Given the description of an element on the screen output the (x, y) to click on. 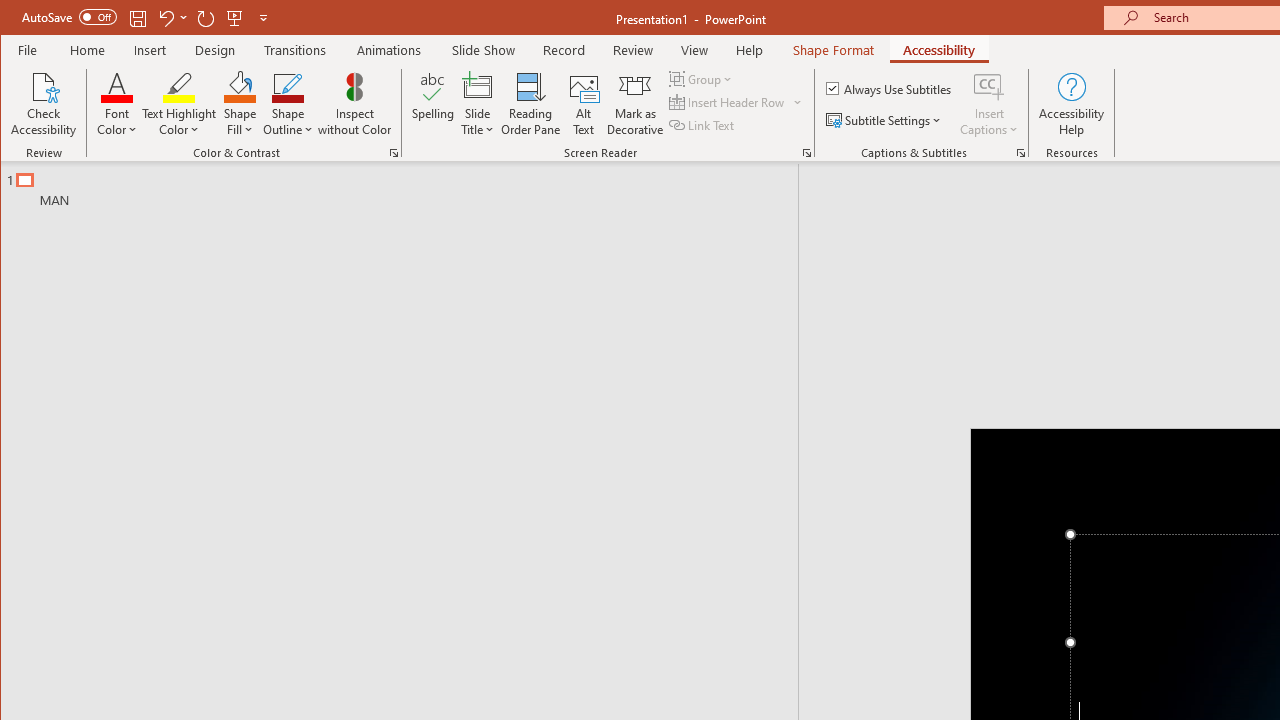
Shape Outline Blue, Accent 1 (288, 86)
Check Accessibility (43, 104)
Shape Format (833, 50)
Slide Title (477, 104)
Accessibility Help (1071, 104)
